Given the description of an element on the screen output the (x, y) to click on. 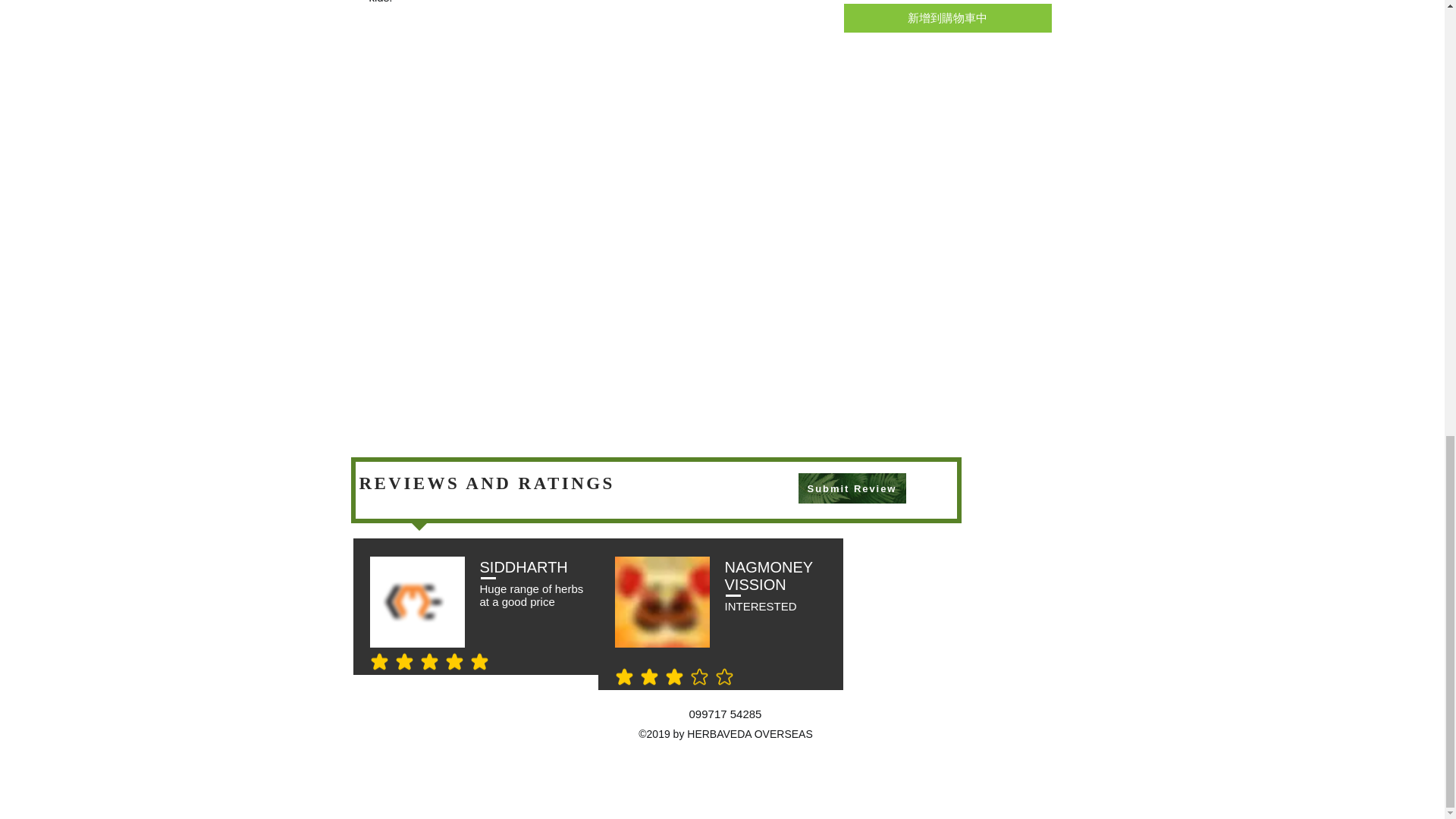
Submit Review (851, 488)
MAHADEV LOGO.png (416, 601)
